Given the description of an element on the screen output the (x, y) to click on. 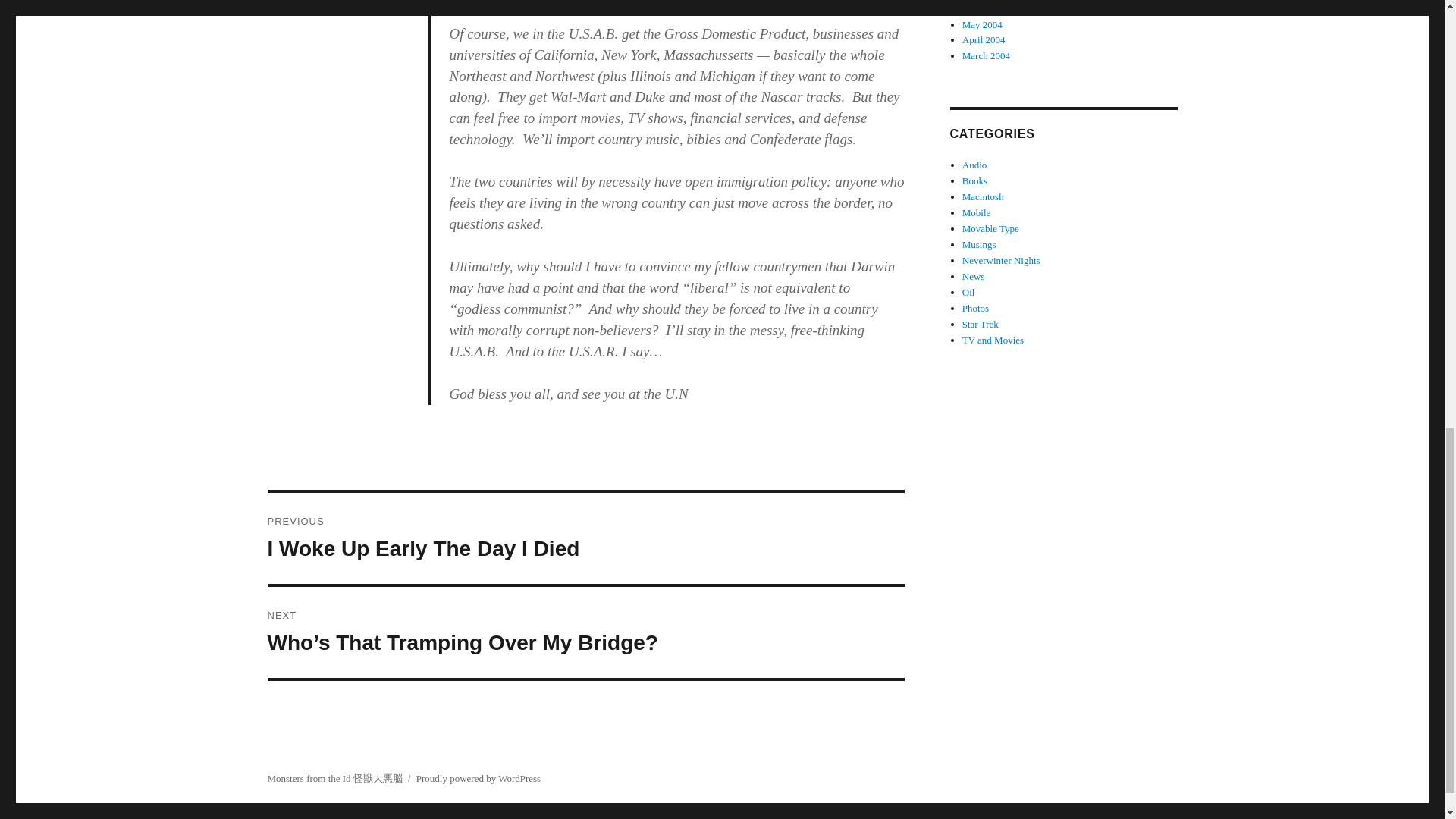
Neverwinter Nights (1001, 260)
June 2004 (982, 8)
April 2004 (984, 39)
Musings (978, 244)
Macintosh (983, 196)
Audio (974, 164)
Books (974, 180)
Oil (585, 538)
Photos (968, 292)
May 2004 (975, 307)
Movable Type (982, 24)
Mobile (990, 228)
March 2004 (976, 212)
News (986, 55)
